Given the description of an element on the screen output the (x, y) to click on. 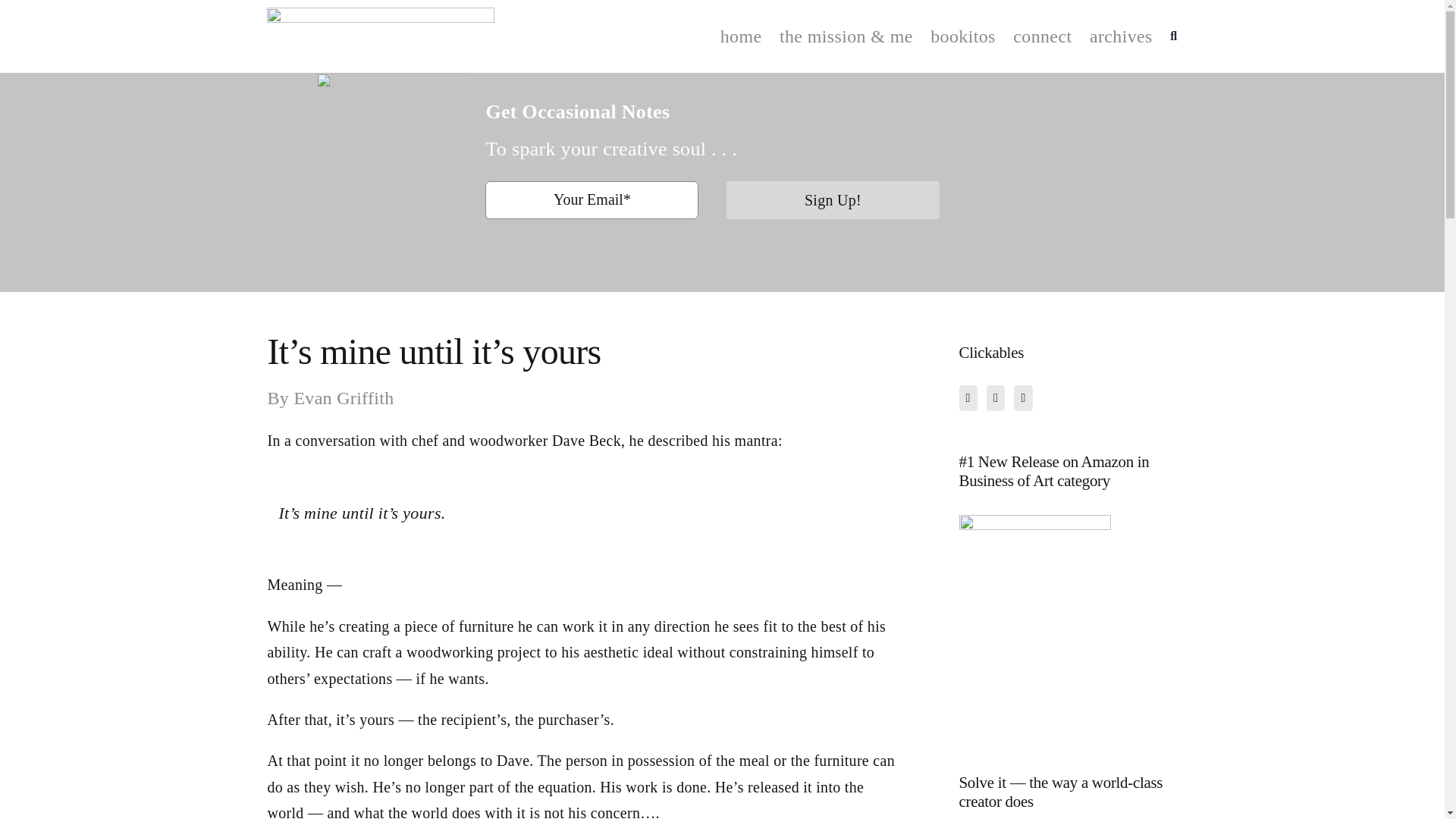
Sign Up! (831, 208)
Posts by Evan Griffith (343, 397)
Evan Griffith (343, 397)
Sign Up! (832, 199)
bookitos (962, 36)
